Given the description of an element on the screen output the (x, y) to click on. 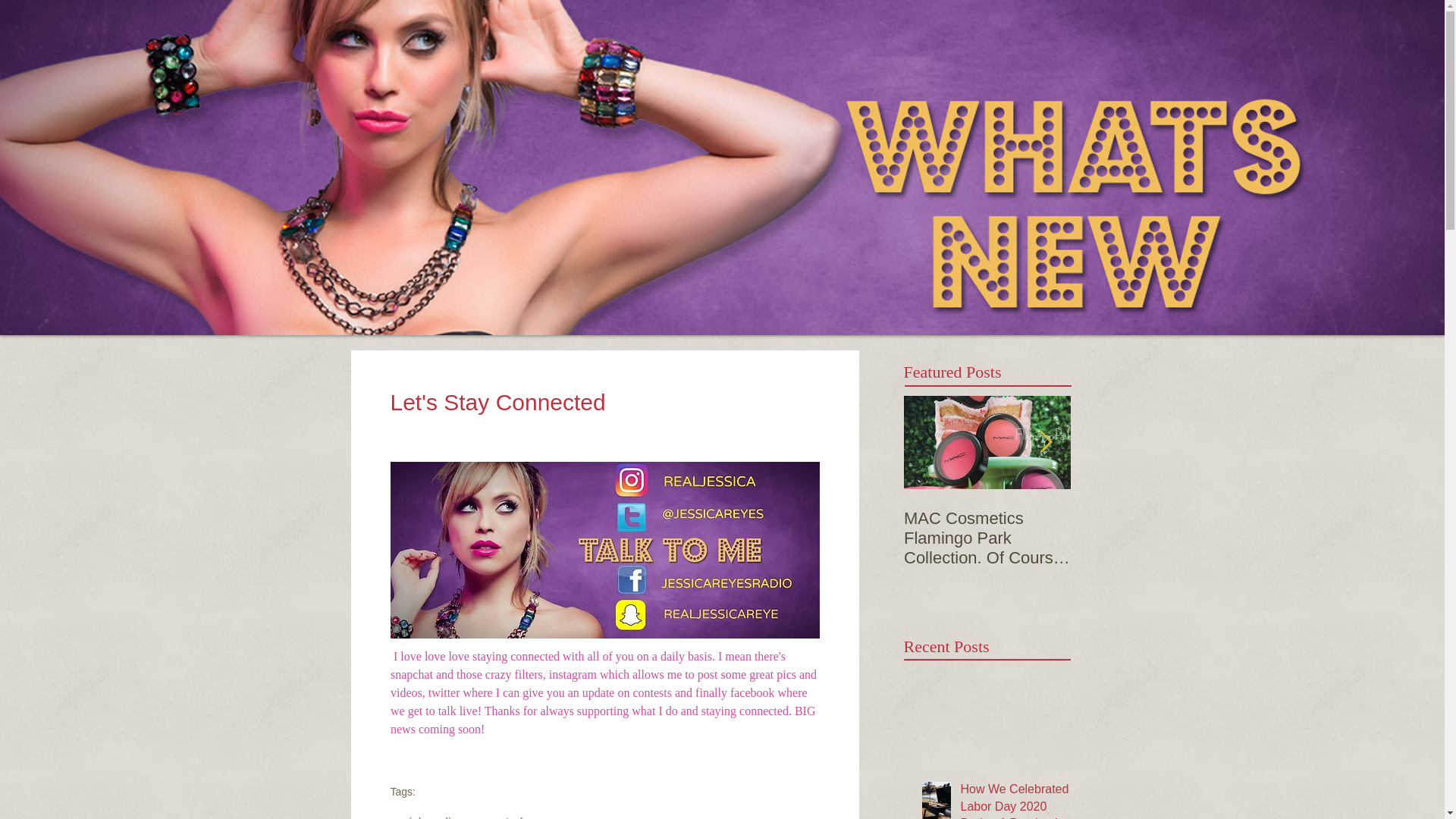
What's New (763, 12)
social media (423, 817)
Home (354, 12)
twitter (444, 692)
How We Celebrated Labor Day 2020 During A Pandemic (1013, 800)
My Days At The Beach Look Like This (1153, 527)
instagram (571, 674)
Video (901, 12)
Photos (620, 12)
